Given the description of an element on the screen output the (x, y) to click on. 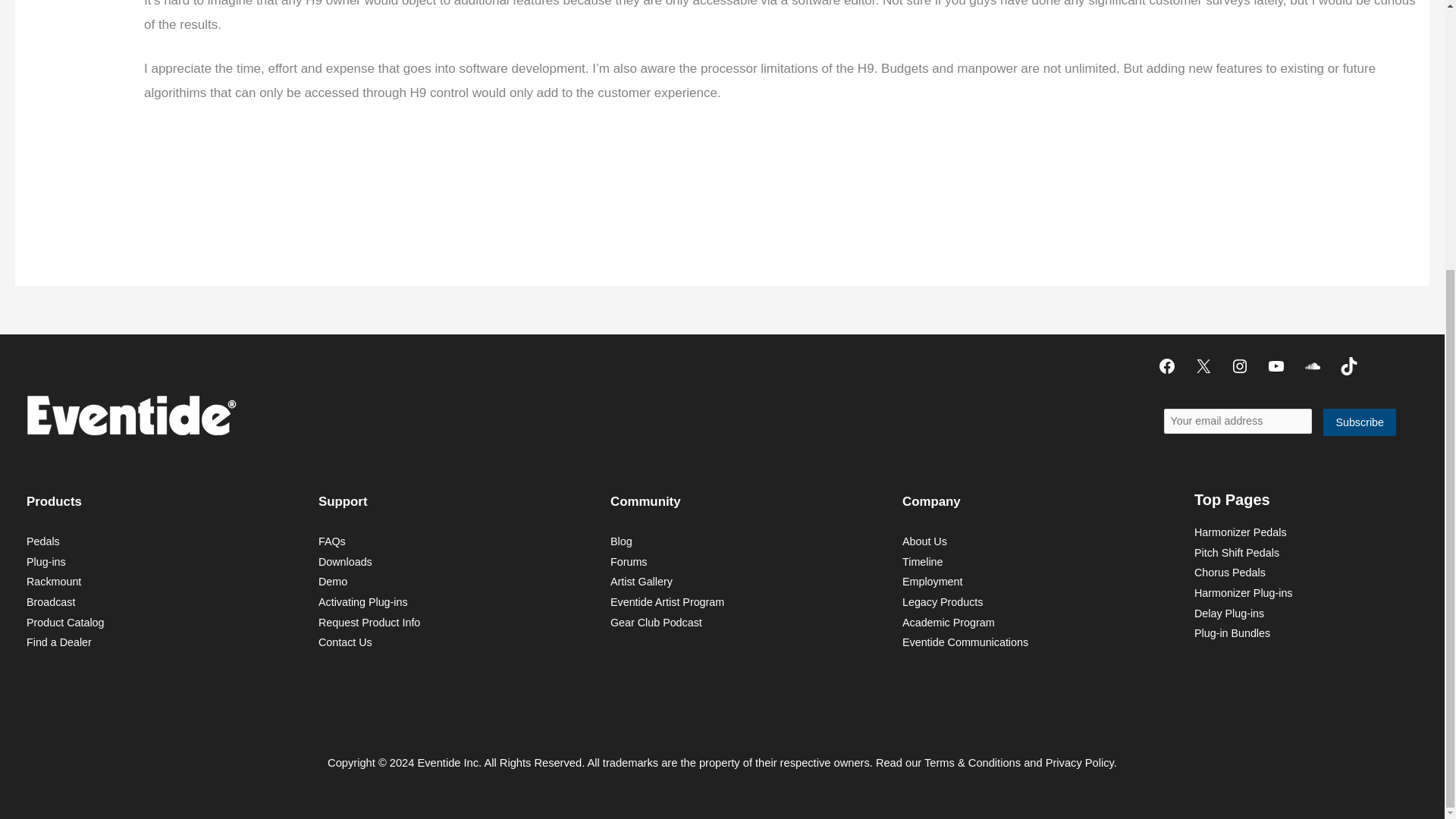
Subscribe (1359, 422)
eventide-logo-white (130, 414)
